Given the description of an element on the screen output the (x, y) to click on. 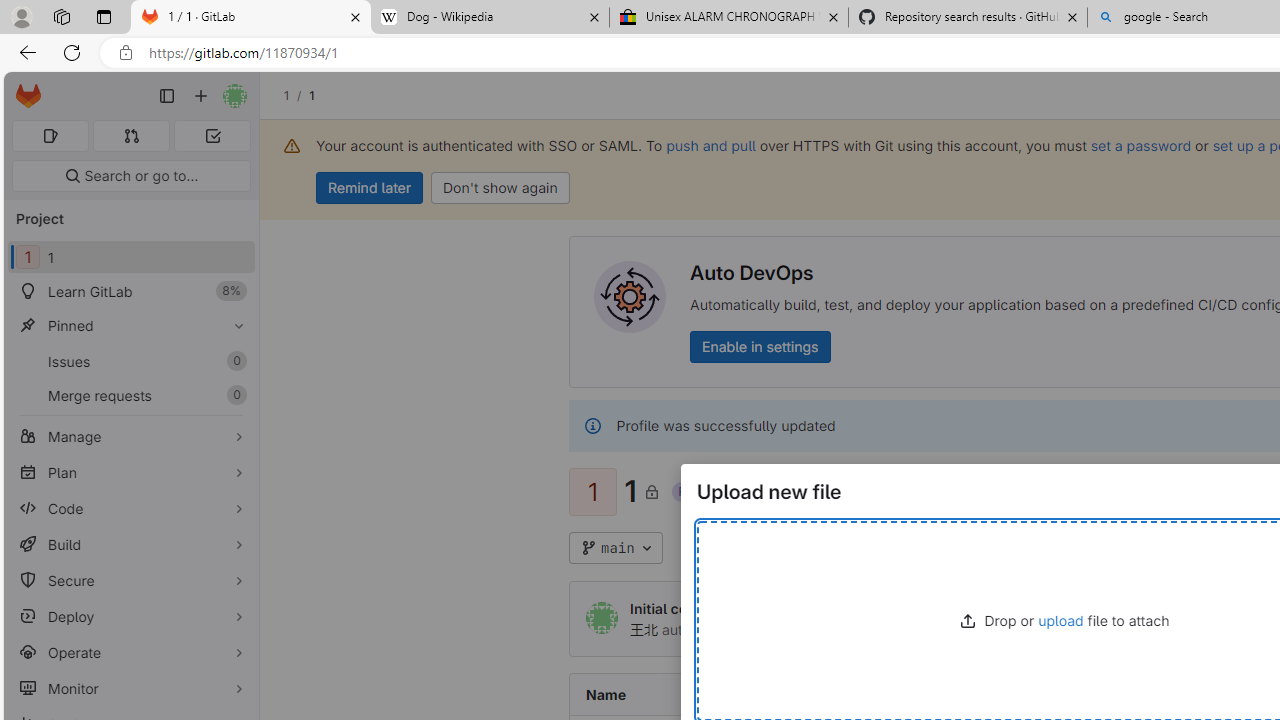
Secure (130, 579)
Learn GitLab 8% (130, 291)
main (616, 547)
History (1217, 547)
